Given the description of an element on the screen output the (x, y) to click on. 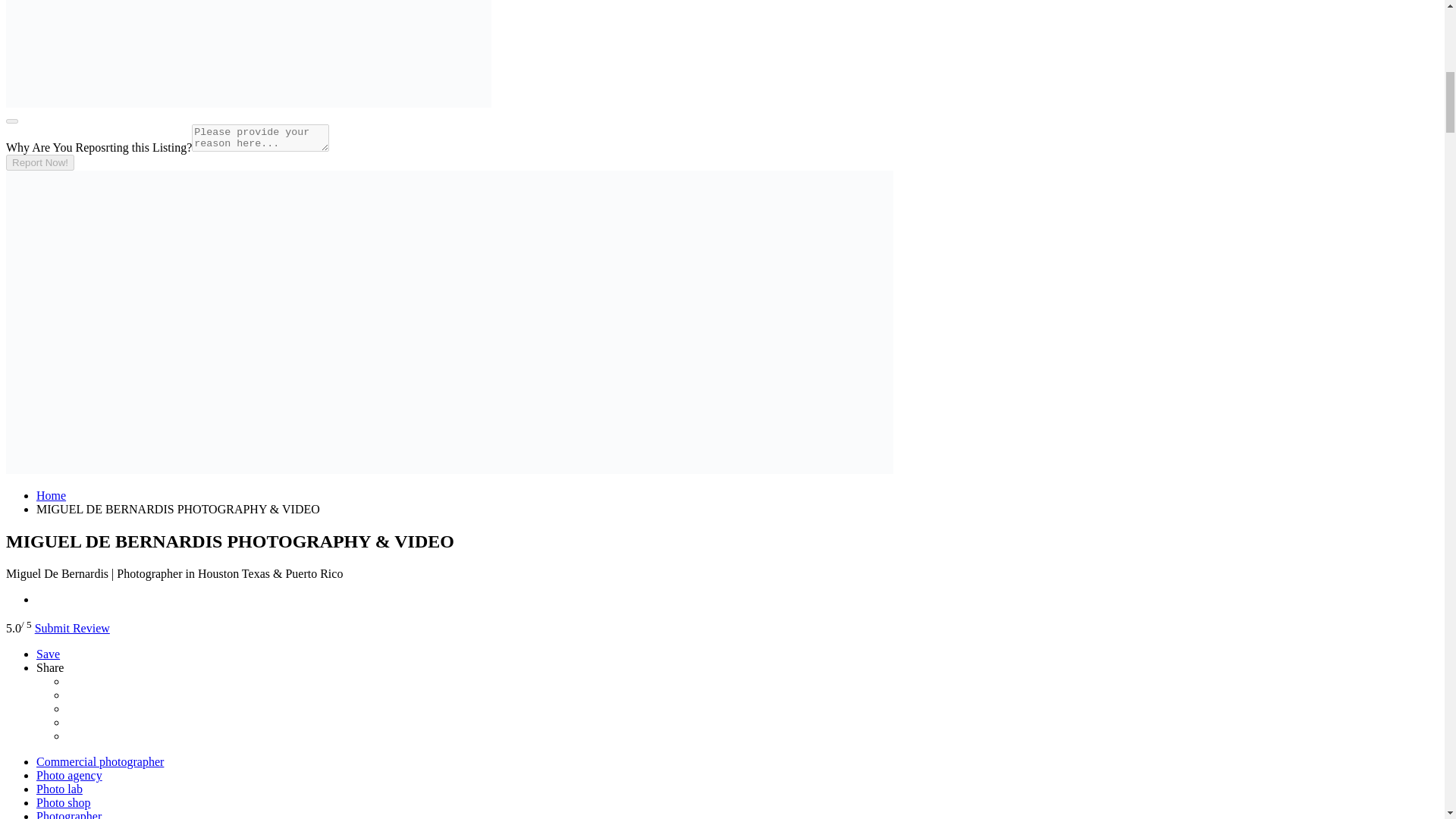
Submit Review (72, 627)
Photo shop (63, 802)
Photo lab (59, 788)
Home (50, 495)
Photo agency (68, 775)
Save (47, 653)
Report Now! (39, 162)
Share (50, 667)
Commercial photographer (99, 761)
